Given the description of an element on the screen output the (x, y) to click on. 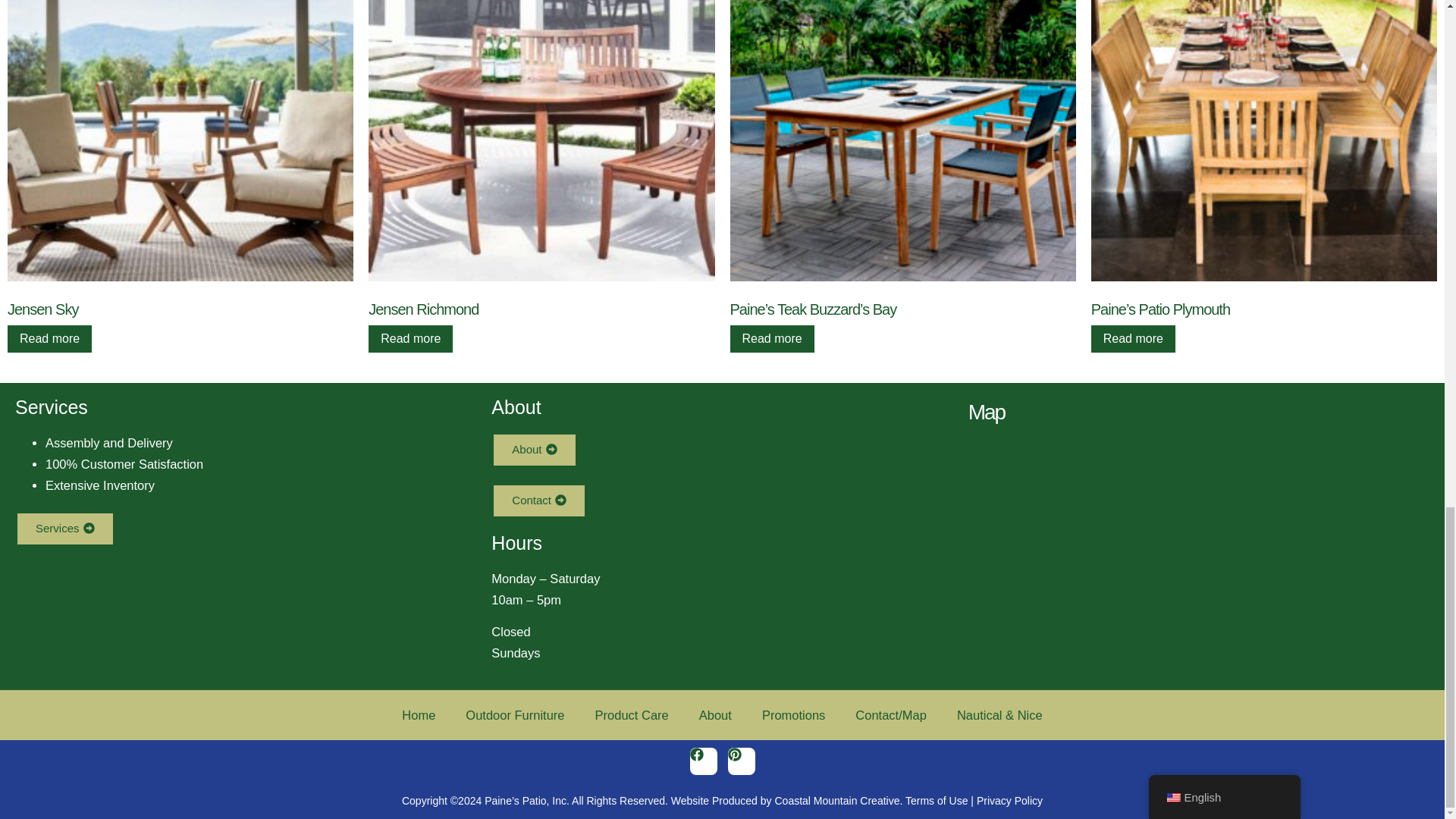
674 MacArthur Blvd Pocasset, MA 02559 (1198, 555)
